Given the description of an element on the screen output the (x, y) to click on. 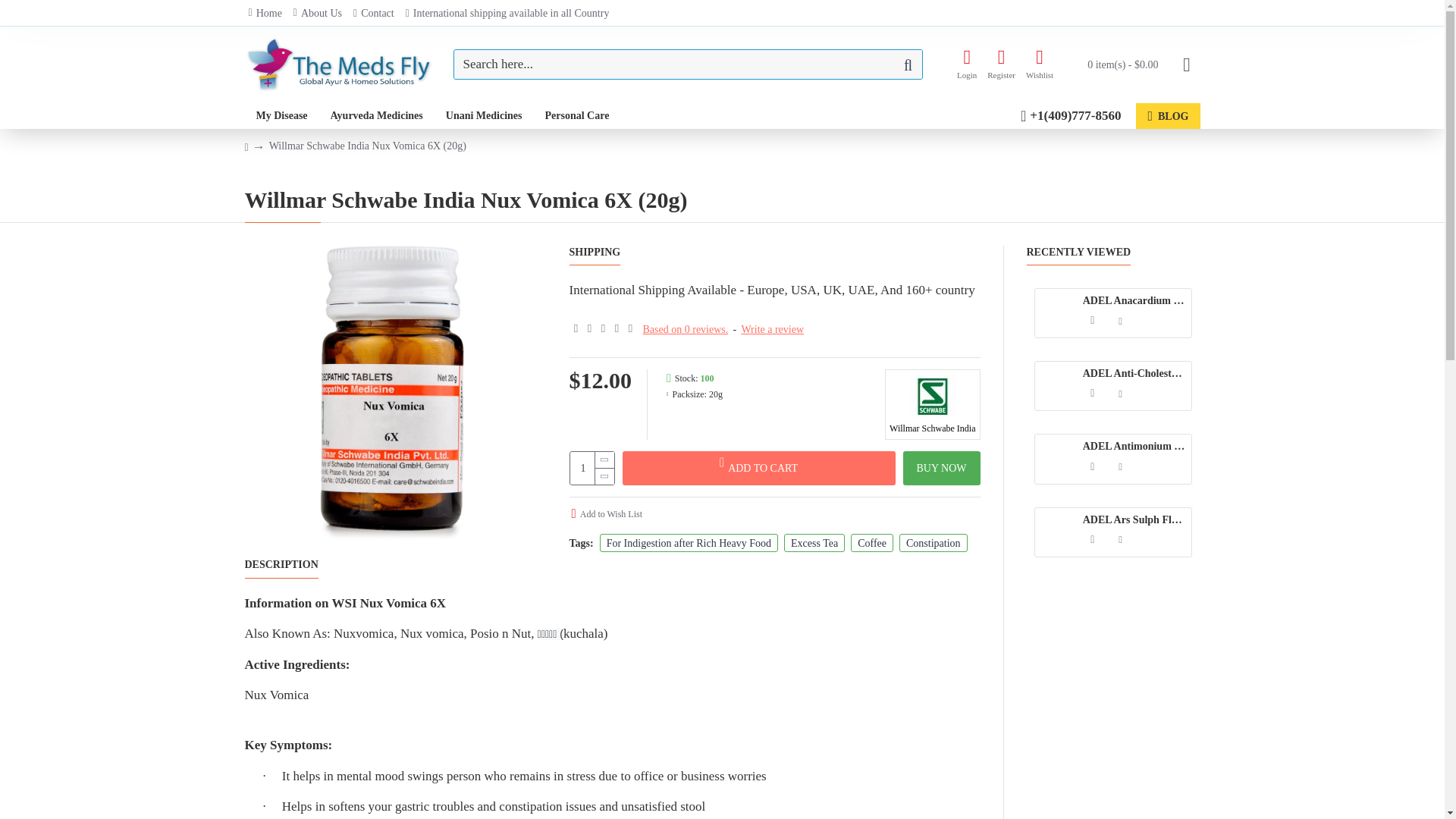
Contact (373, 13)
Home (264, 13)
My Disease (281, 115)
International shipping available in all Country (506, 13)
Add to Cart (1091, 393)
Add to Wish List (1120, 539)
Add to Wish List (1120, 466)
Themedsfly (338, 64)
1 (592, 468)
Add to Cart (1091, 466)
